Given the description of an element on the screen output the (x, y) to click on. 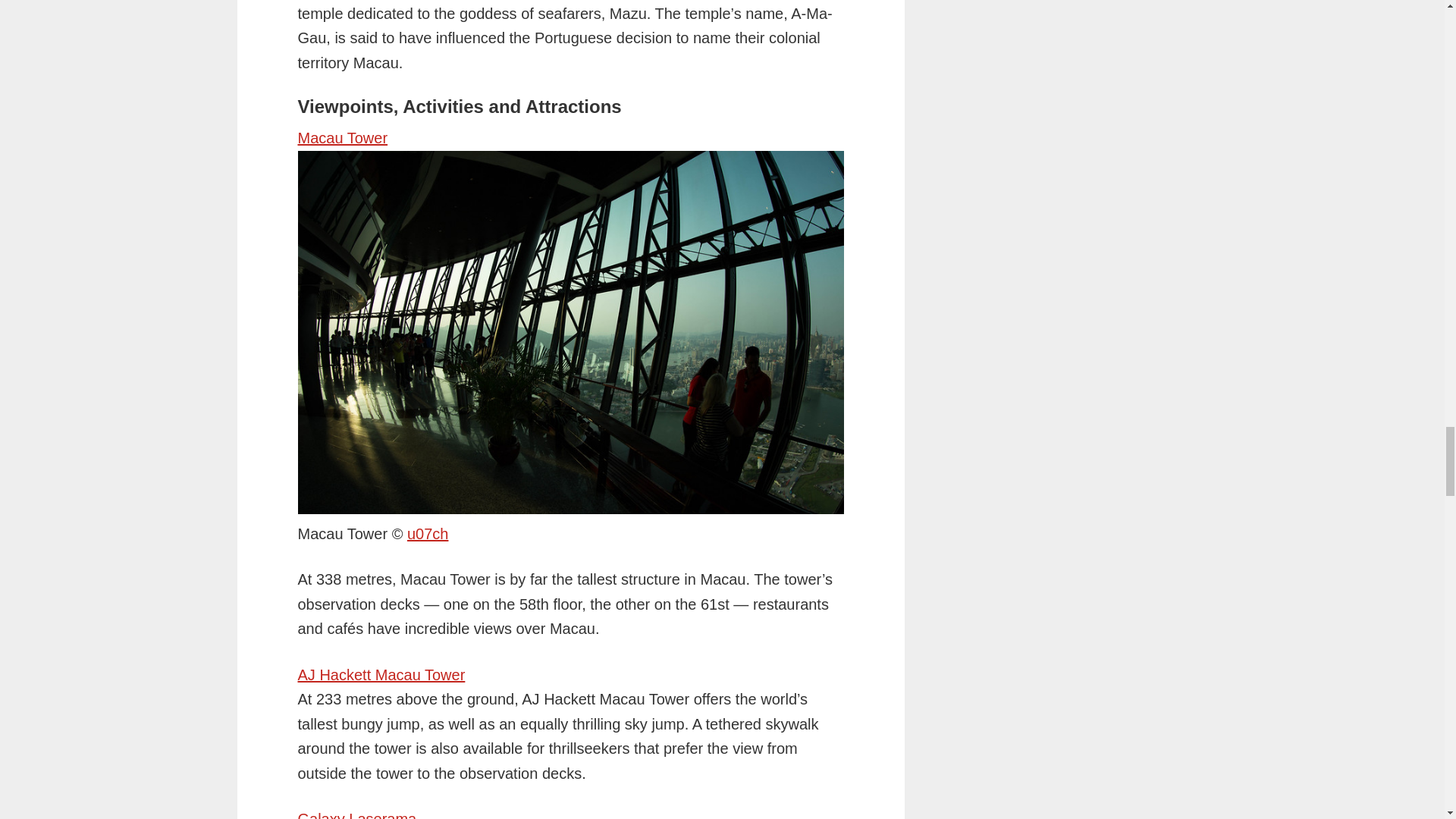
Macau Tower (427, 533)
u07ch (427, 533)
AJ Hackett Macau Tower (380, 674)
Galaxy Laserama (356, 814)
Macau Tower (342, 137)
